Given the description of an element on the screen output the (x, y) to click on. 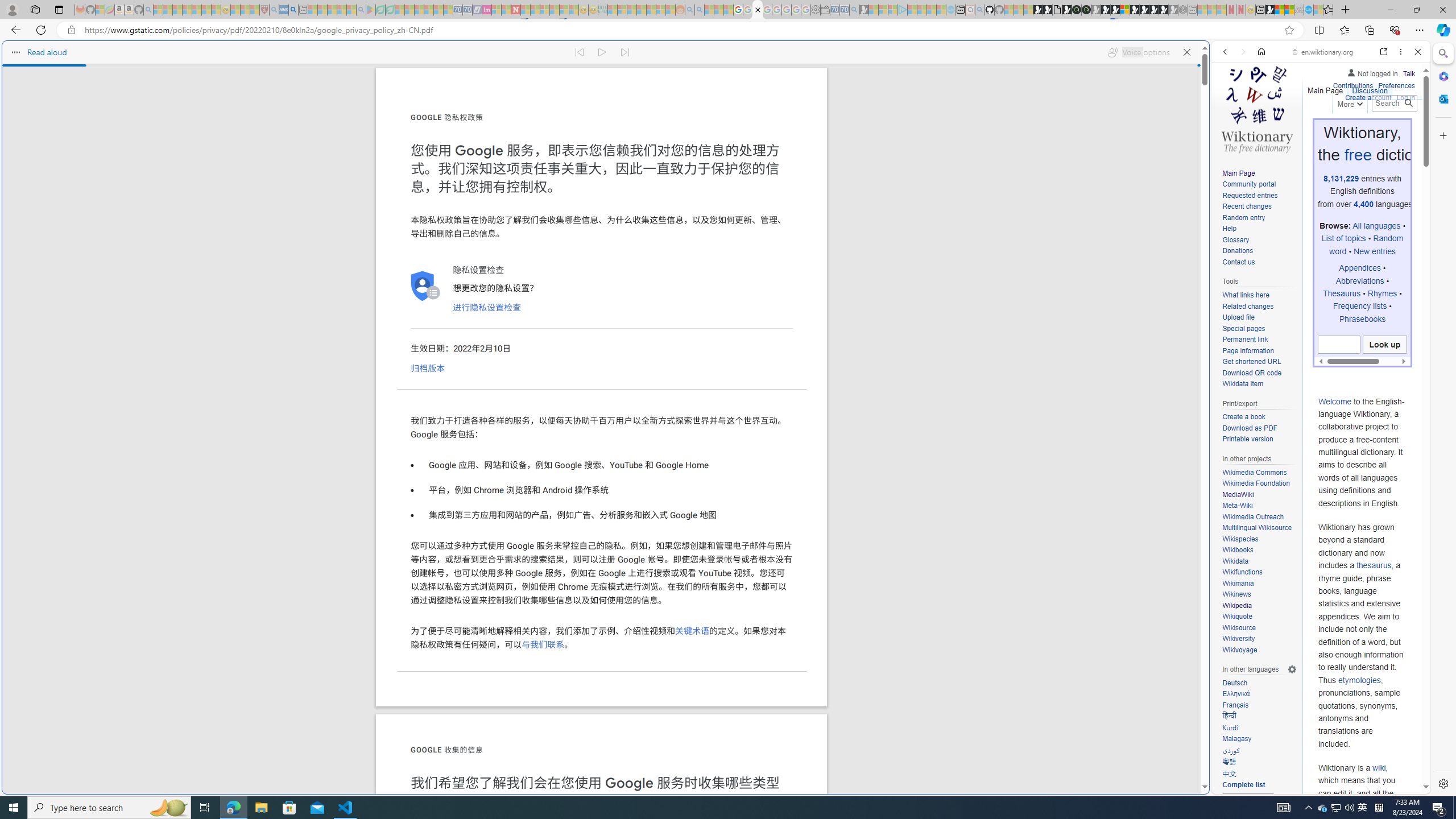
Search Wiktionary (1393, 103)
Read next paragraph (624, 52)
Wikispecies (1239, 538)
14 Common Myths Debunked By Scientific Facts - Sleeping (534, 9)
Wikivoyage (1239, 649)
Visit the main page (1257, 108)
Bing Real Estate - Home sales and rental listings - Sleeping (853, 9)
Home | Sky Blue Bikes - Sky Blue Bikes - Sleeping (950, 9)
